Given the description of an element on the screen output the (x, y) to click on. 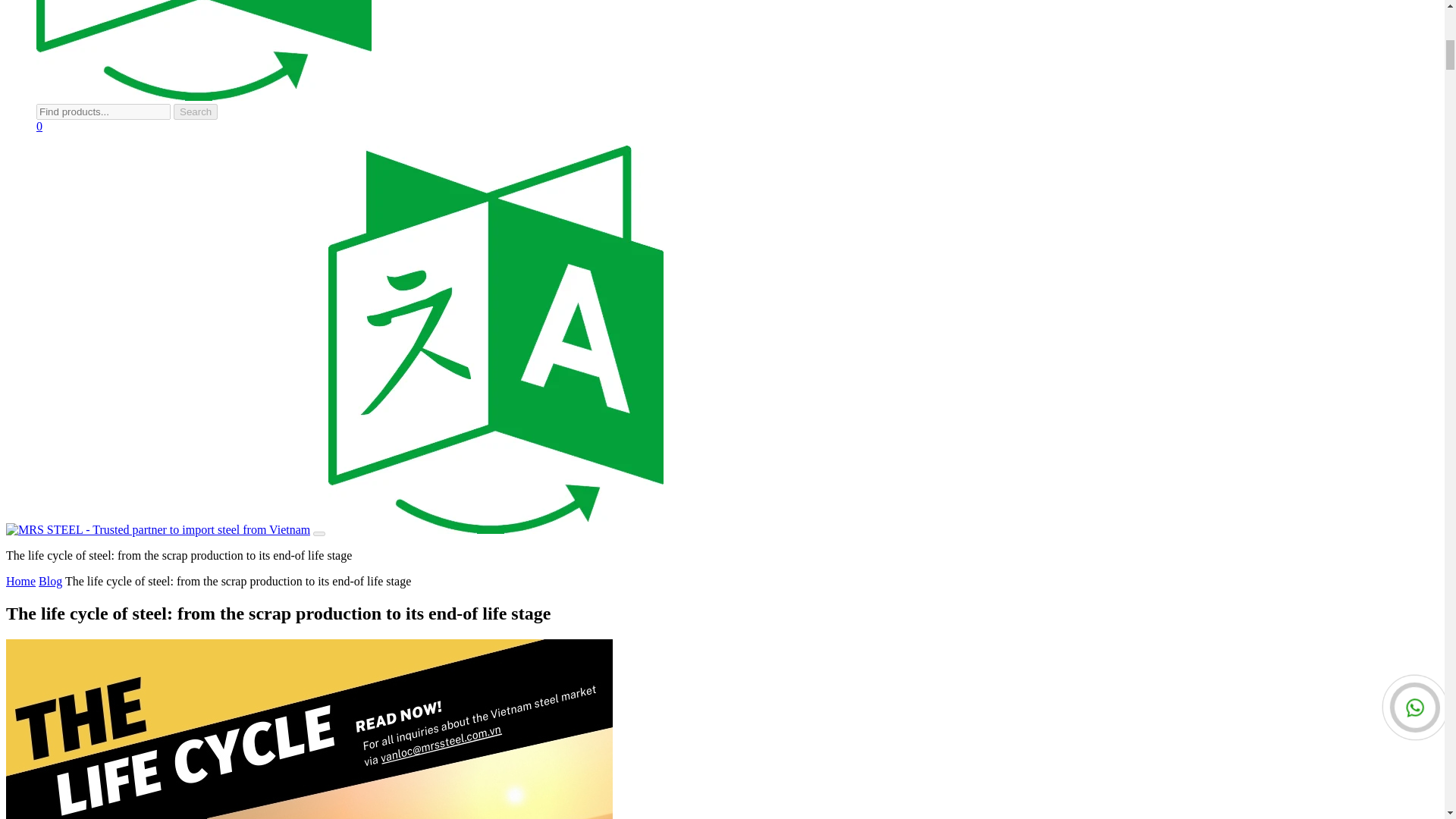
Home (19, 581)
